Given the description of an element on the screen output the (x, y) to click on. 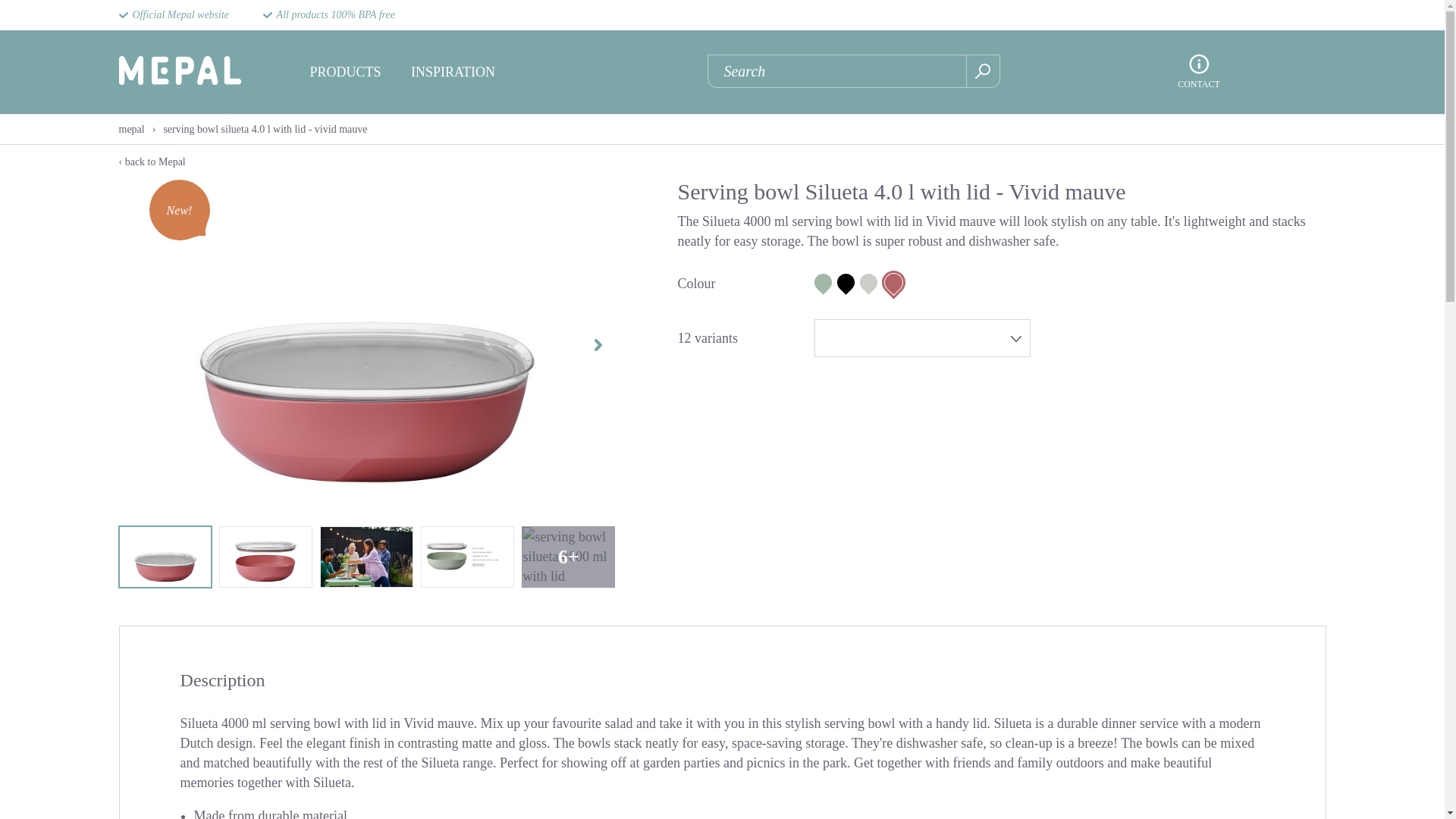
CONTACT (1198, 83)
Vivid mauve (893, 282)
Nordic sage (822, 282)
Nordic black (845, 282)
Nordic white (868, 282)
